Given the description of an element on the screen output the (x, y) to click on. 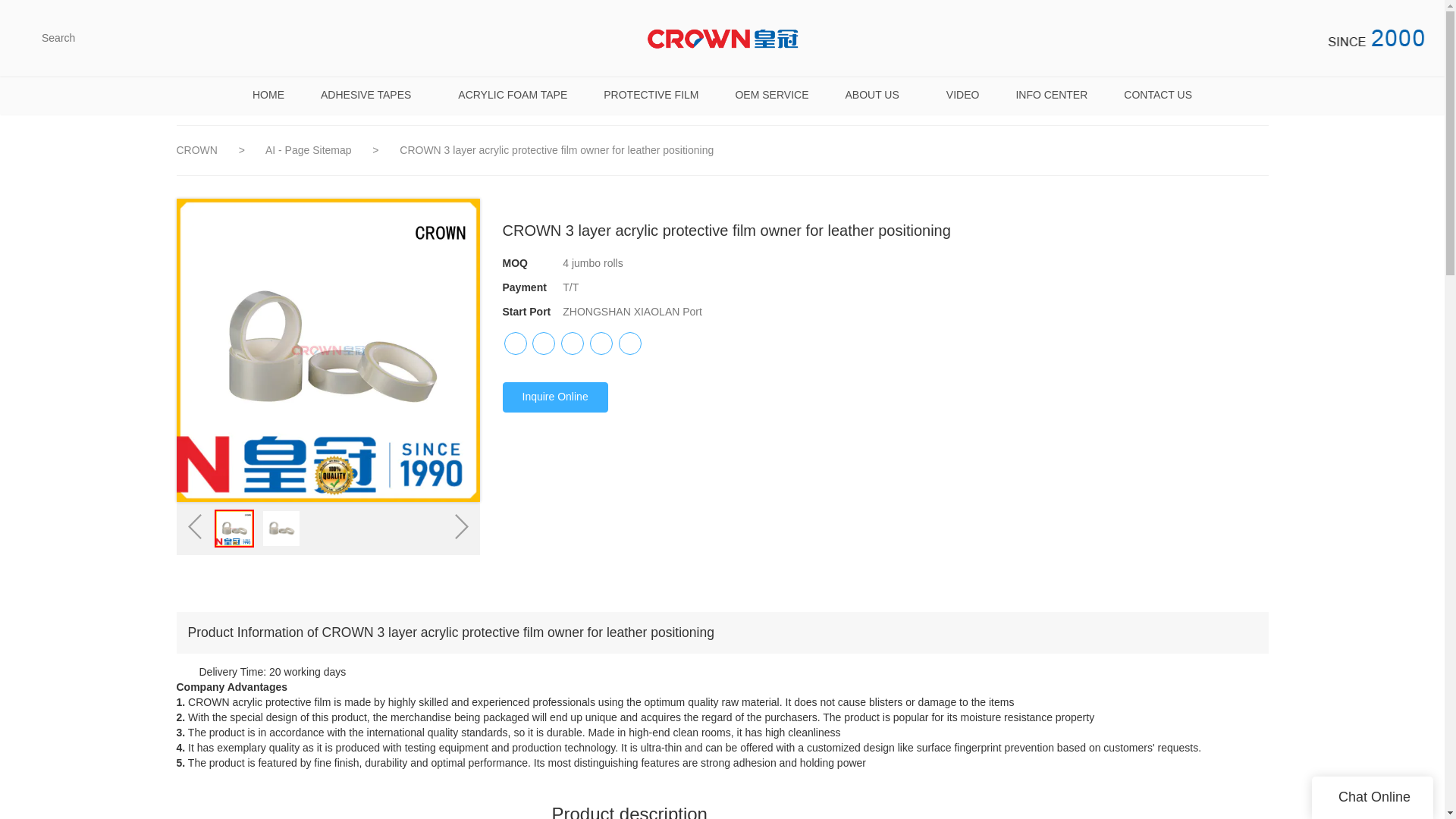
ABOUT US (877, 94)
ADHESIVE TAPES (370, 94)
HOME (268, 94)
ACRYLIC FOAM TAPE (512, 94)
CROWN (196, 150)
Inquire Online (554, 397)
INFO CENTER (1051, 94)
AI - Page Sitemap (309, 150)
CONTACT US (1157, 94)
OEM SERVICE (771, 94)
